Given the description of an element on the screen output the (x, y) to click on. 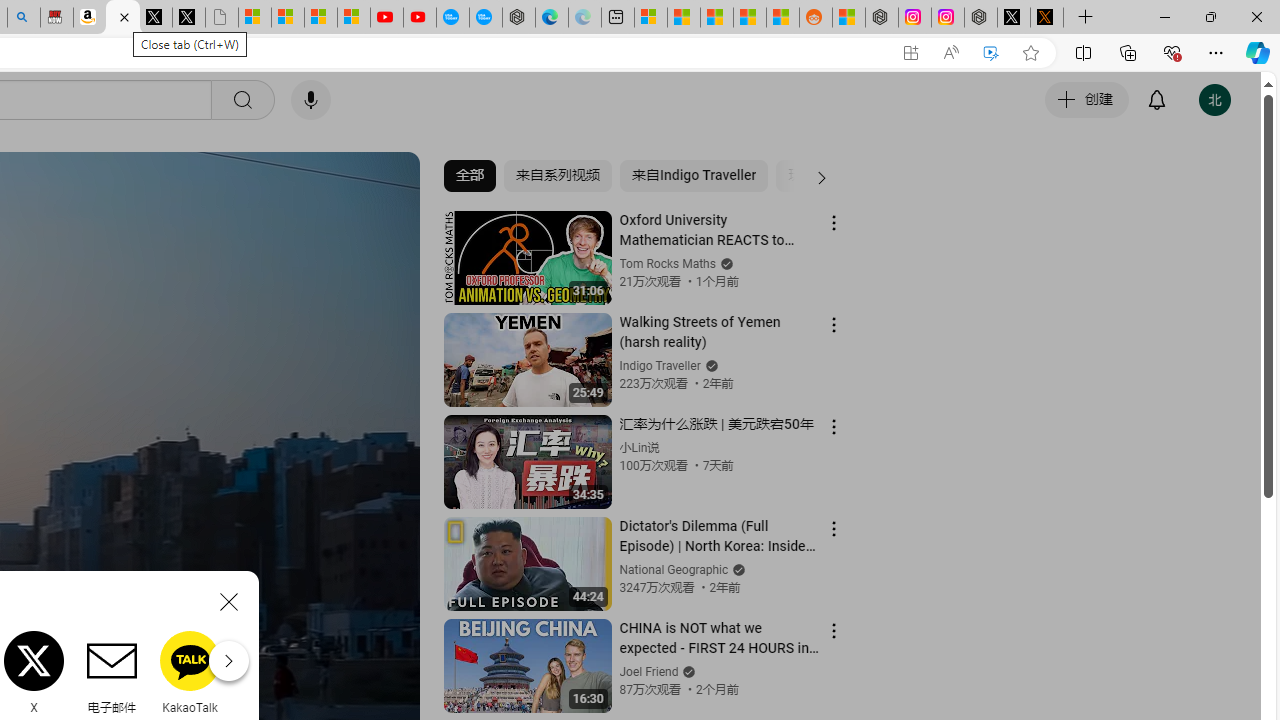
Untitled (222, 17)
